Given the description of an element on the screen output the (x, y) to click on. 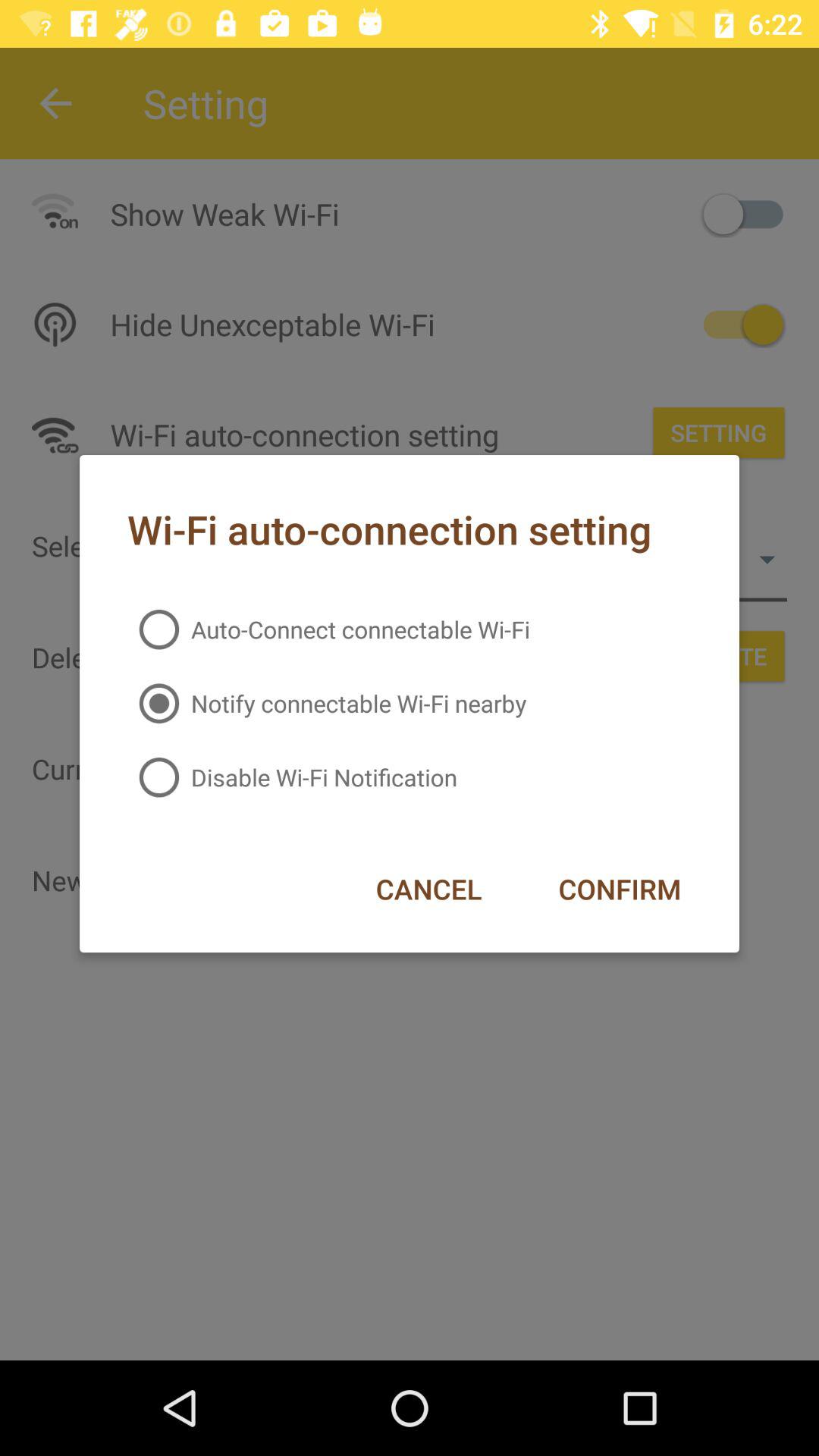
swipe to confirm icon (619, 888)
